Given the description of an element on the screen output the (x, y) to click on. 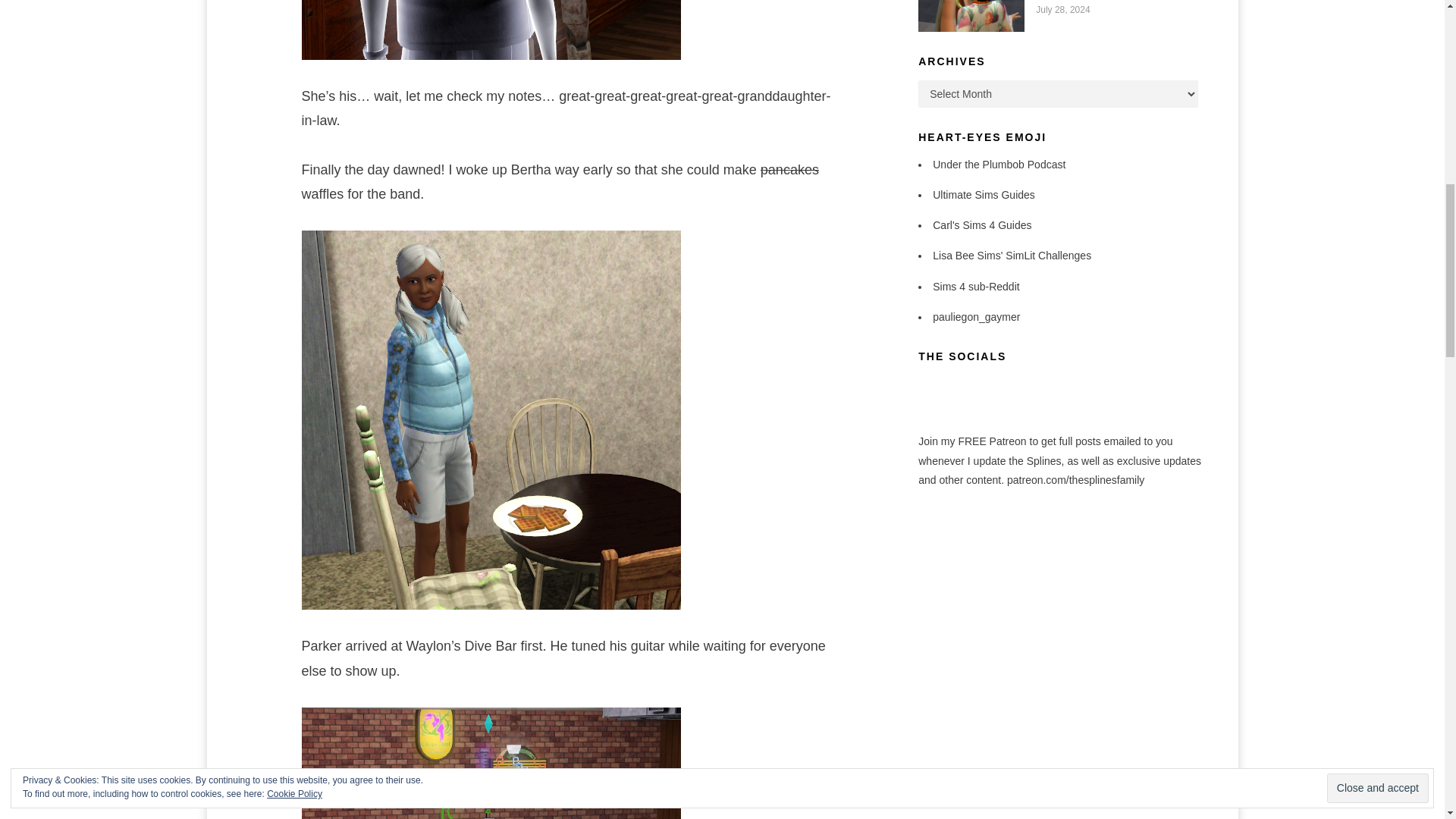
Lisa Bee Sims' SimLit Challenges (1011, 255)
Carl's Sims 4 Guides (981, 224)
Ultimate Sims Guides (984, 194)
Under the Plumbob Podcast (999, 164)
Sims 4 sub-Reddit (976, 286)
Facebook (927, 384)
